Given the description of an element on the screen output the (x, y) to click on. 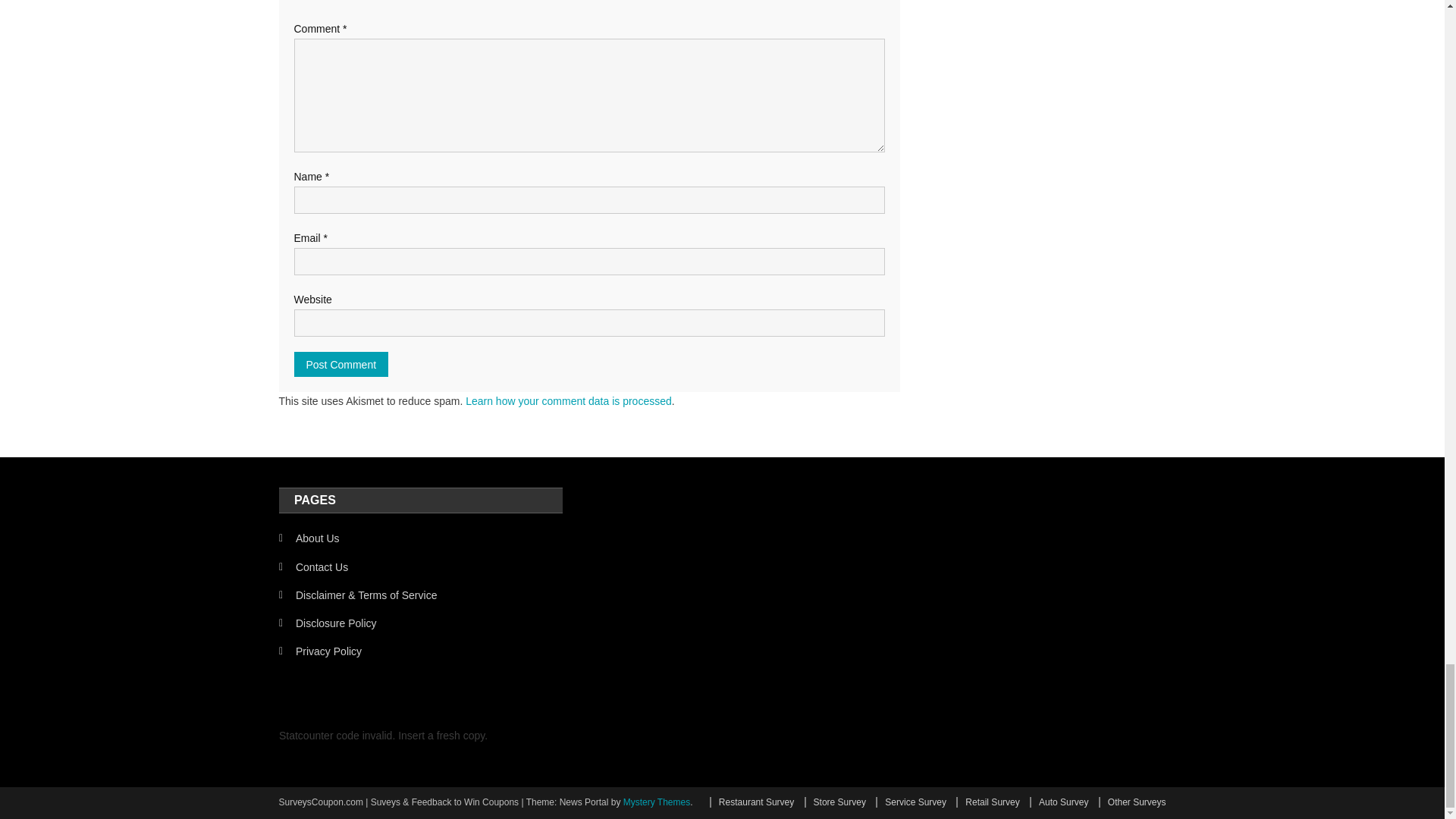
Post Comment (341, 364)
Learn how your comment data is processed (568, 400)
Post Comment (341, 364)
